Given the description of an element on the screen output the (x, y) to click on. 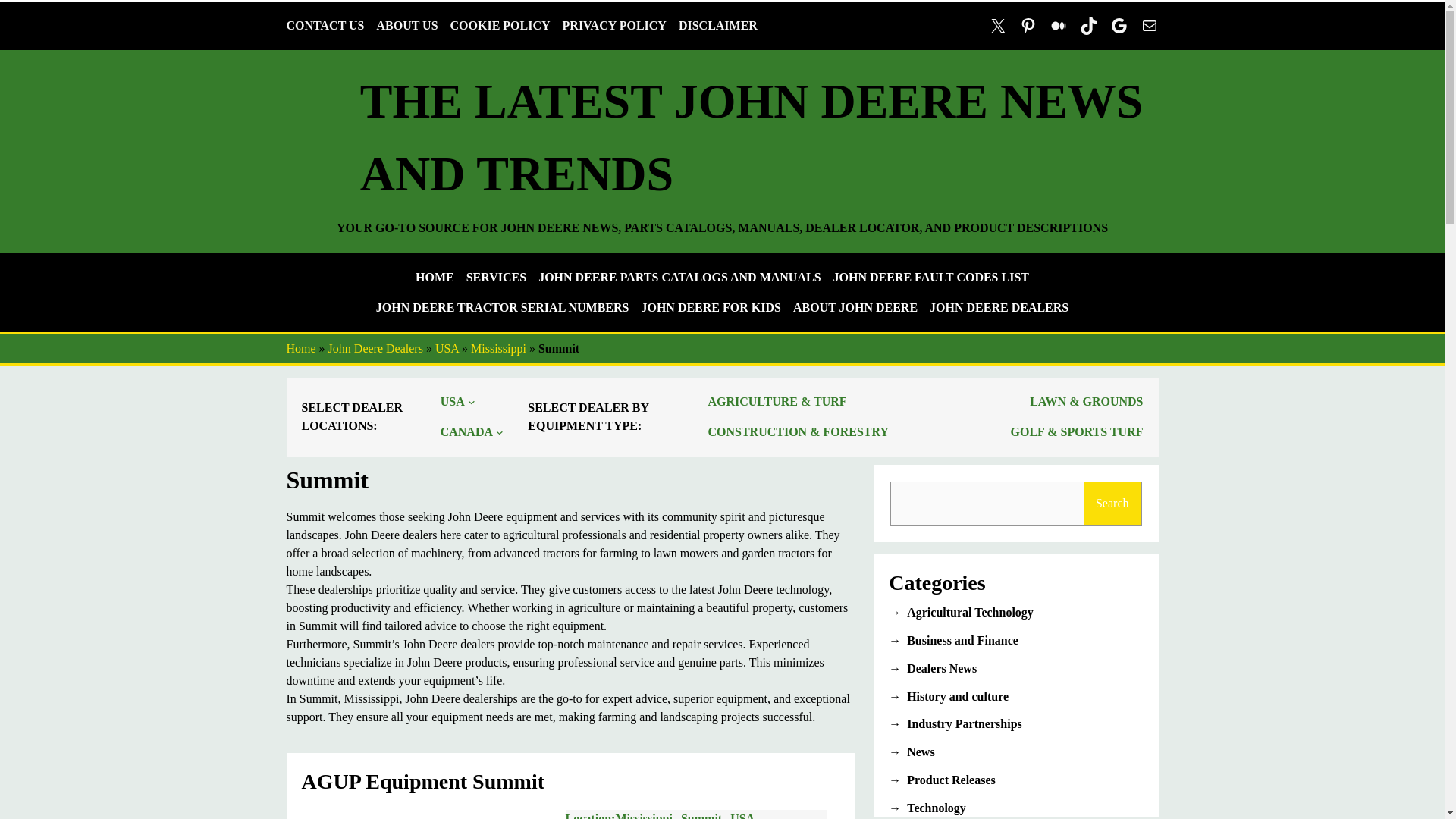
DISCLAIMER (717, 25)
COOKIE POLICY (499, 25)
PRIVACY POLICY (614, 25)
Pinterest (1027, 25)
HOME (434, 277)
JOHN DEERE FAULT CODES LIST (930, 277)
THE LATEST JOHN DEERE NEWS AND TRENDS (750, 137)
CONTACT US (325, 25)
Google (1118, 25)
TikTok (1088, 25)
